Given the description of an element on the screen output the (x, y) to click on. 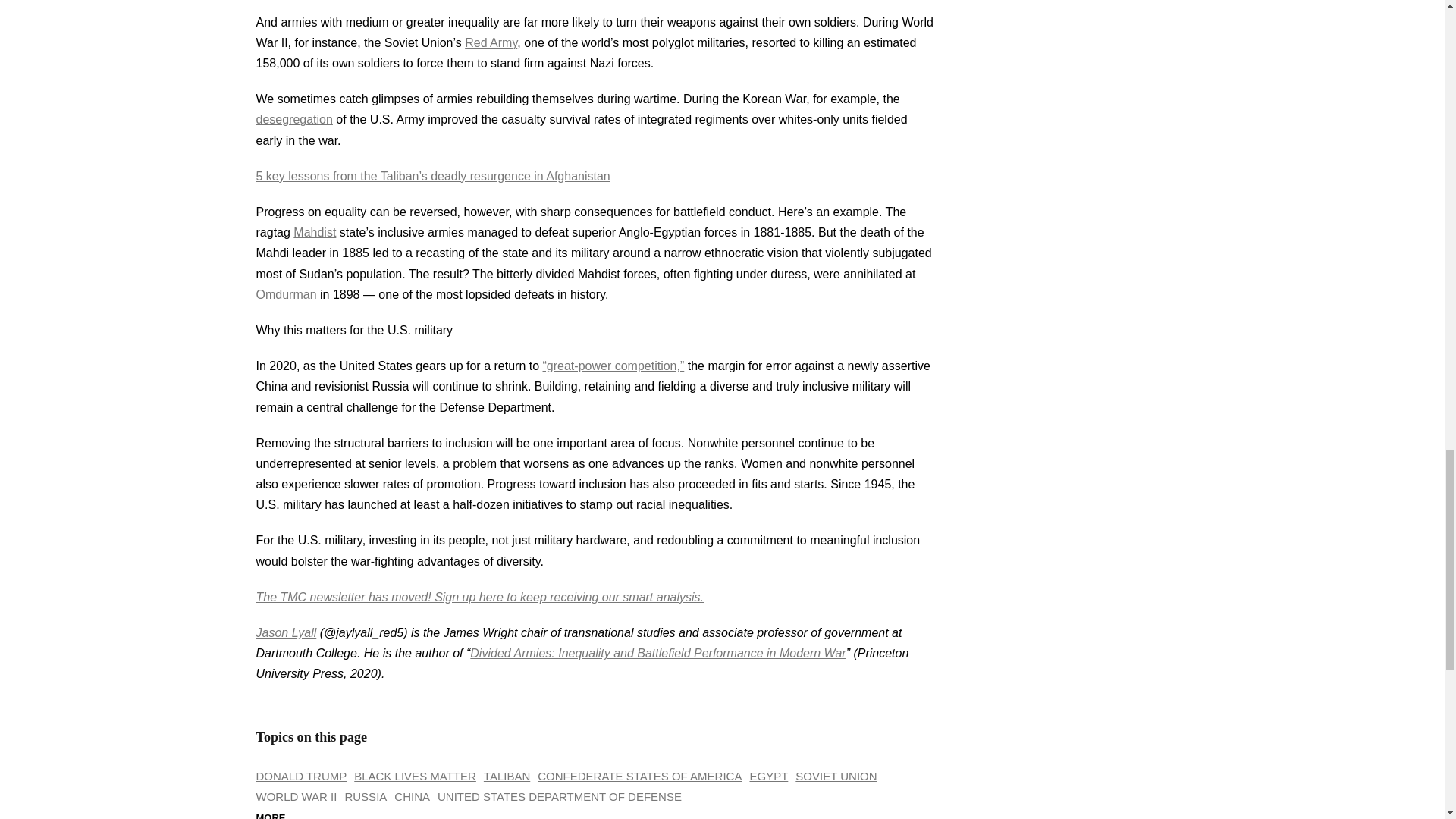
desegregation (294, 119)
Mahdist (315, 232)
Red Army (490, 42)
